Given the description of an element on the screen output the (x, y) to click on. 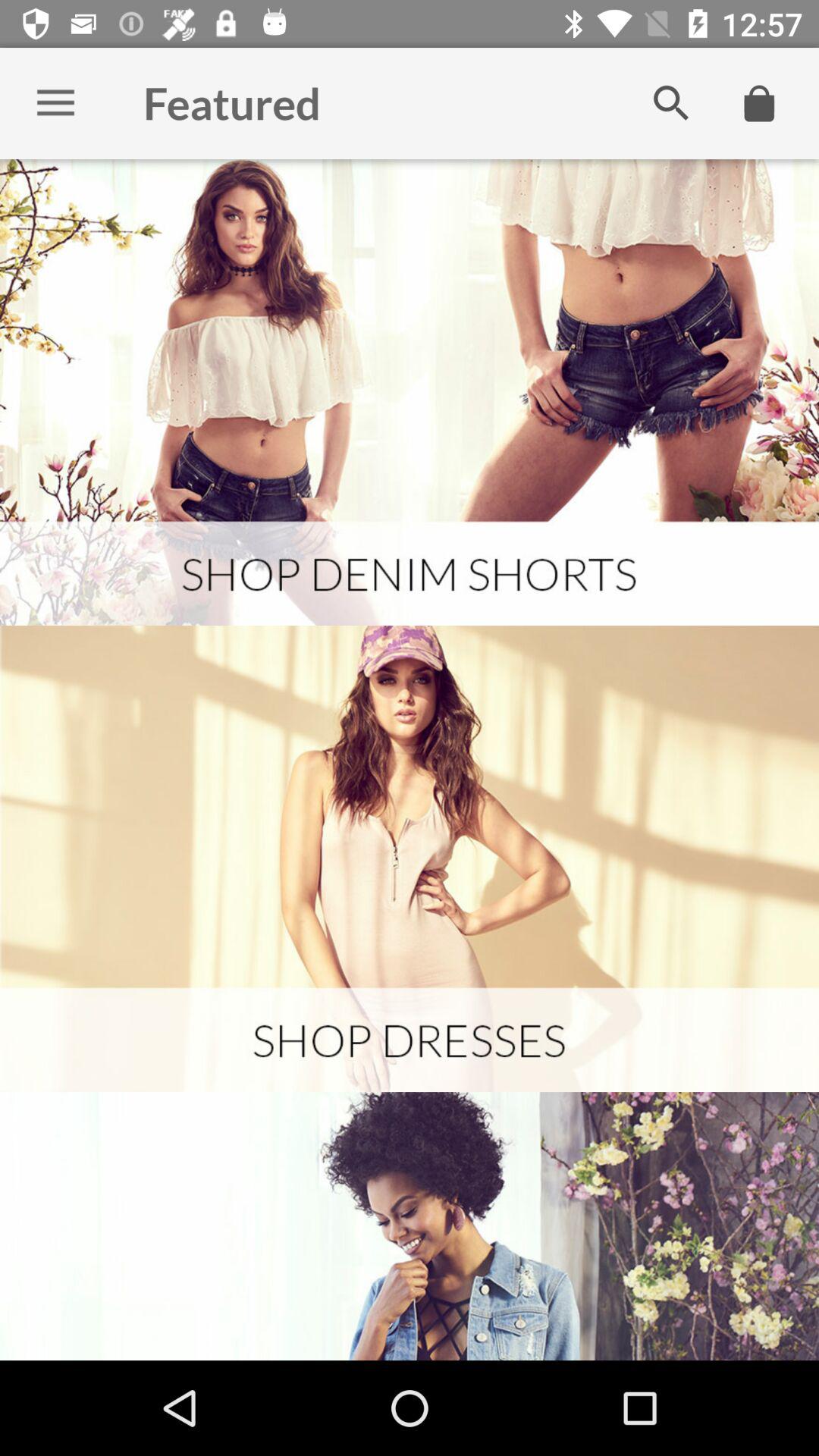
options button (55, 103)
